Given the description of an element on the screen output the (x, y) to click on. 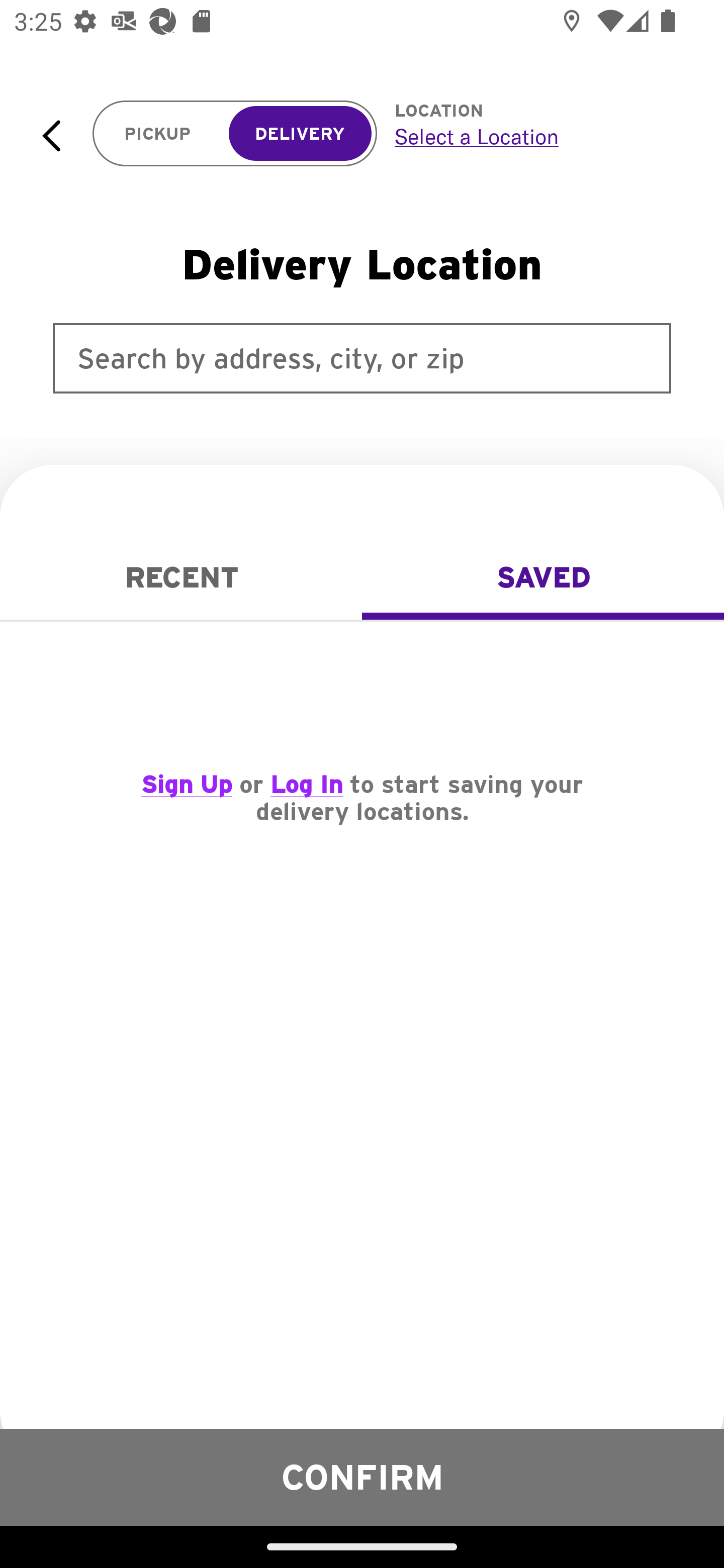
PICKUP (157, 133)
DELIVERY (299, 133)
Select a Location (536, 136)
Search by address, city, or zip (361, 358)
Recent RECENT (181, 576)
CONFIRM (362, 1476)
